Given the description of an element on the screen output the (x, y) to click on. 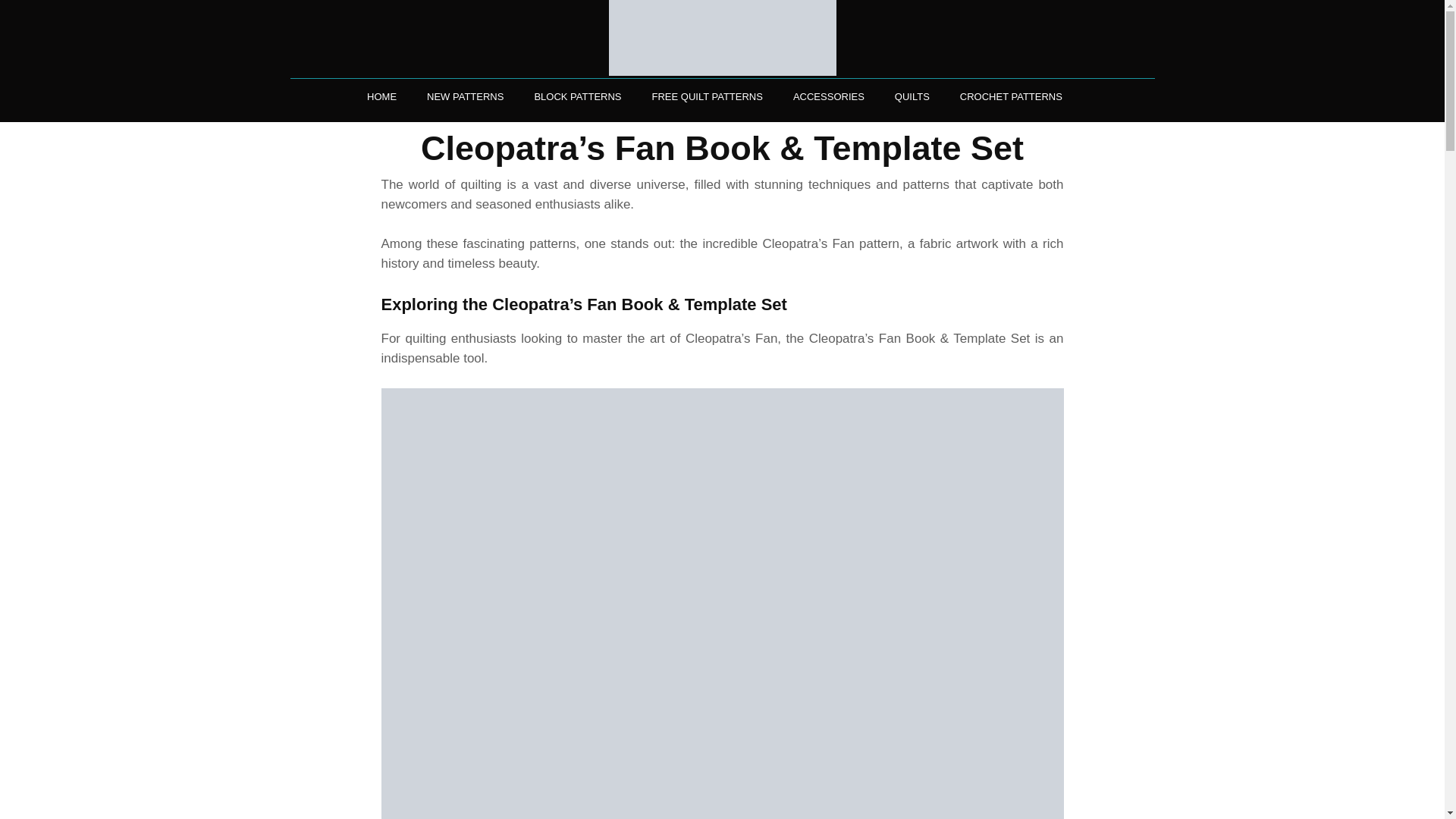
HOME (381, 96)
NEW PATTERNS (465, 96)
CROCHET PATTERNS (1011, 96)
BLOCK PATTERNS (576, 96)
FREE QUILT PATTERNS (707, 96)
Homepage (721, 38)
QUILTS (911, 96)
ACCESSORIES (829, 96)
